Given the description of an element on the screen output the (x, y) to click on. 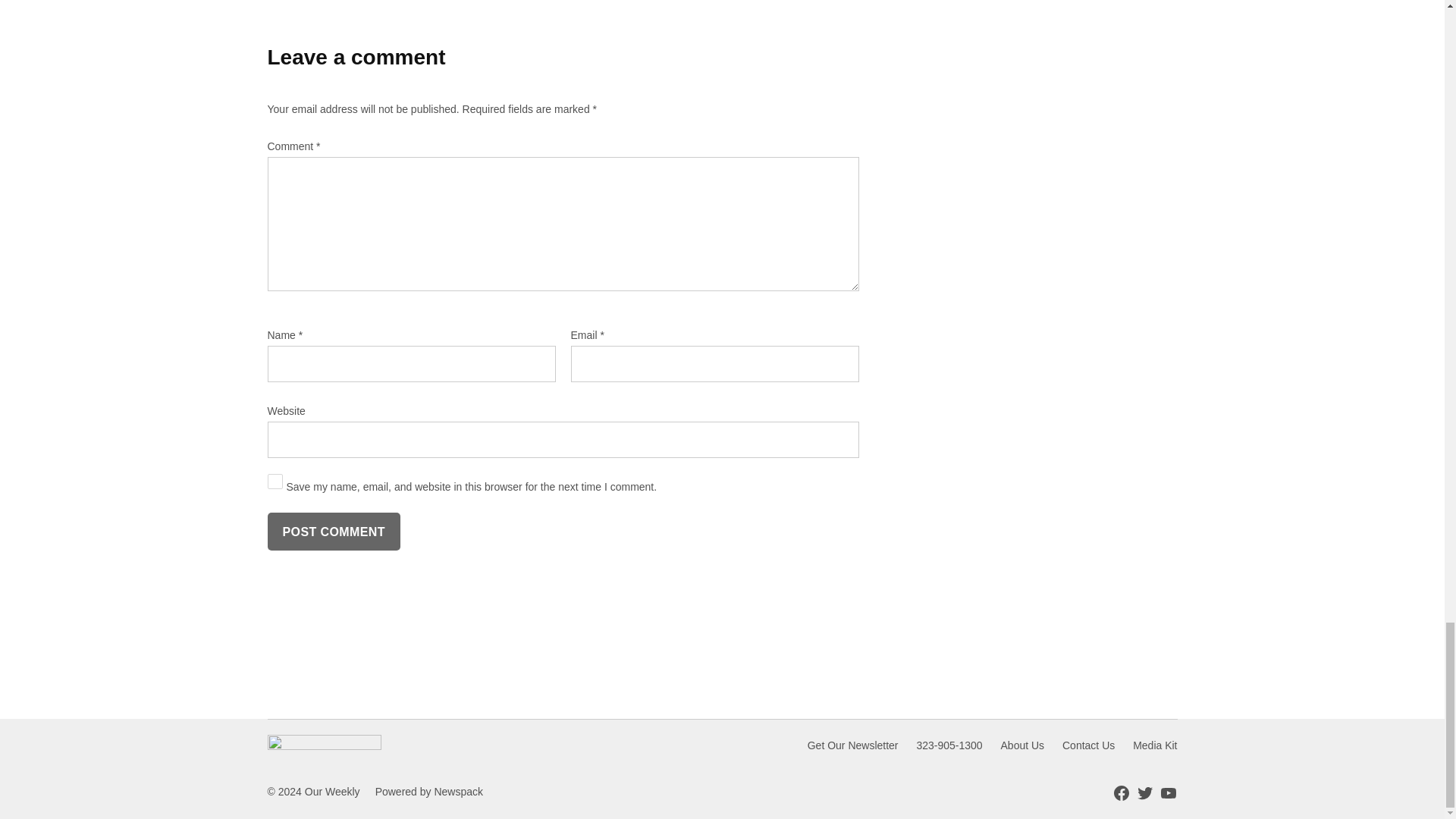
Post Comment (332, 531)
yes (274, 481)
